Given the description of an element on the screen output the (x, y) to click on. 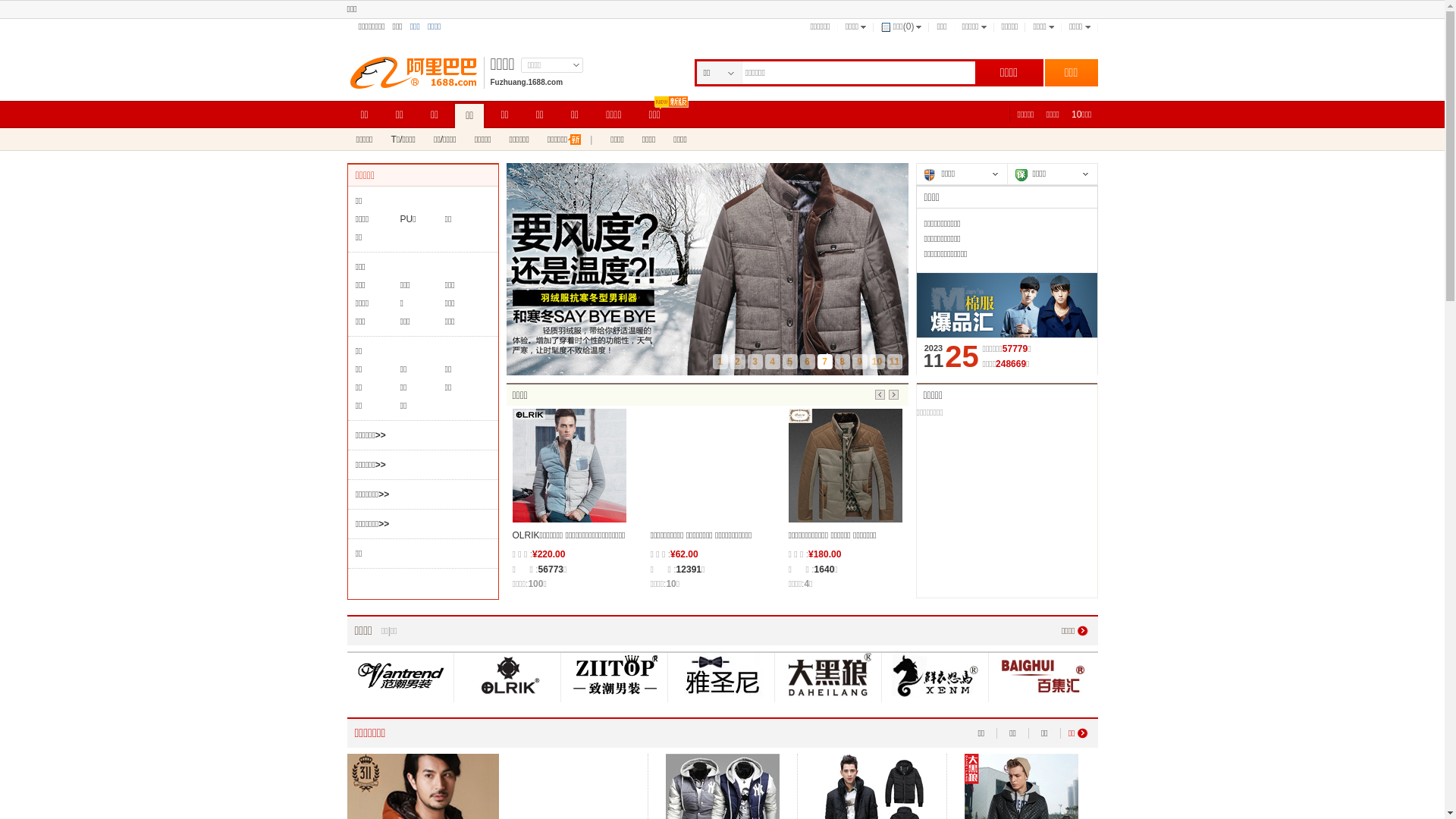
Fuzhuang.1688.com Element type: text (525, 82)
